Given the description of an element on the screen output the (x, y) to click on. 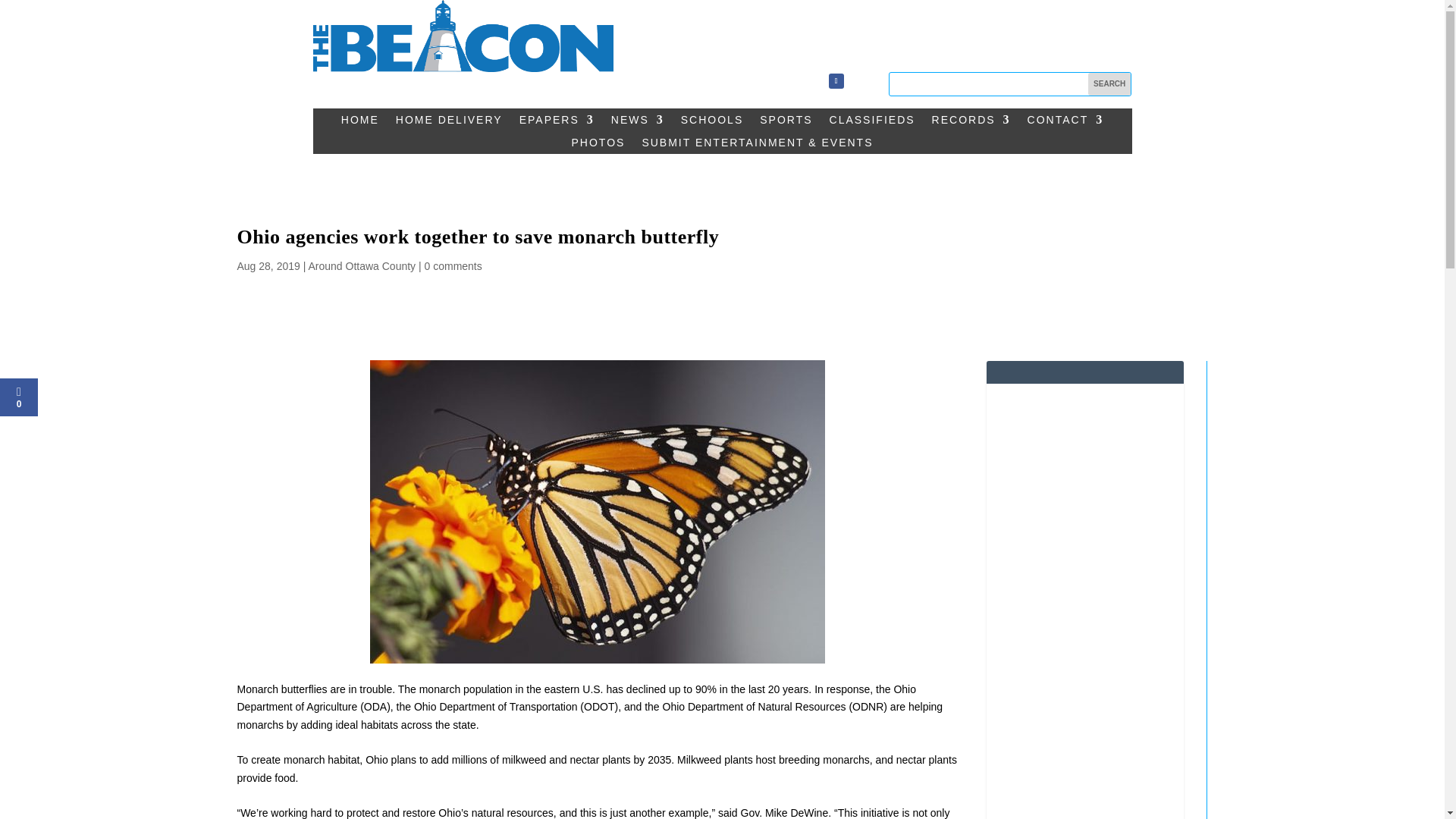
SCHOOLS (711, 122)
RECORDS (970, 122)
CLASSIFIEDS (872, 122)
Follow on Facebook (836, 80)
Search (1109, 83)
HOME (359, 122)
Search (1109, 83)
SPORTS (786, 122)
EPAPERS (556, 122)
NEWS (637, 122)
HOME DELIVERY (449, 122)
CONTACT (1065, 122)
Search (1109, 83)
PHOTOS (599, 145)
